Given the description of an element on the screen output the (x, y) to click on. 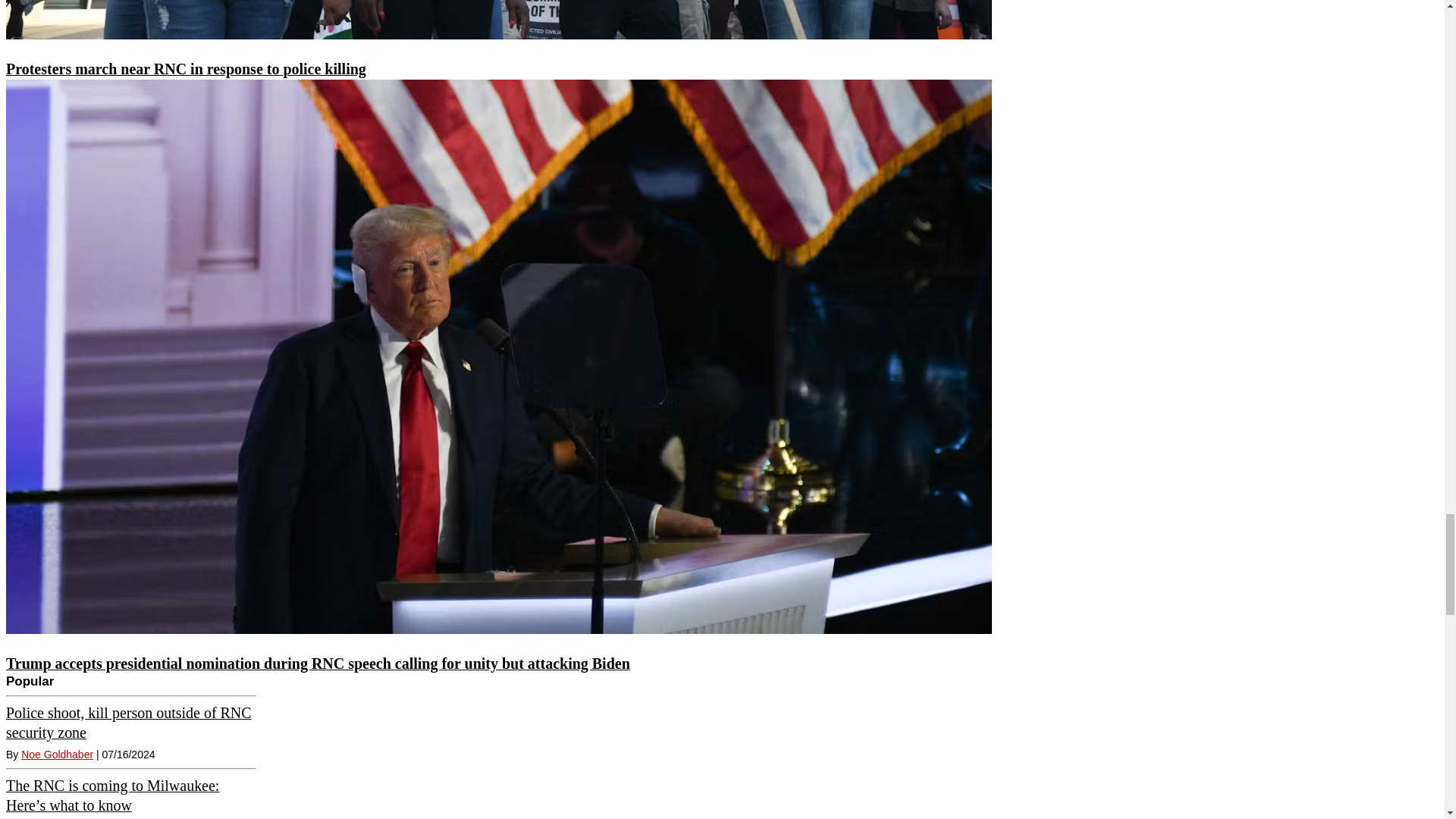
Police shoot, kill person outside of RNC security zone (128, 722)
Protesters march near RNC in response to police killing (498, 19)
Protesters march near RNC in response to police killing (185, 68)
